Given the description of an element on the screen output the (x, y) to click on. 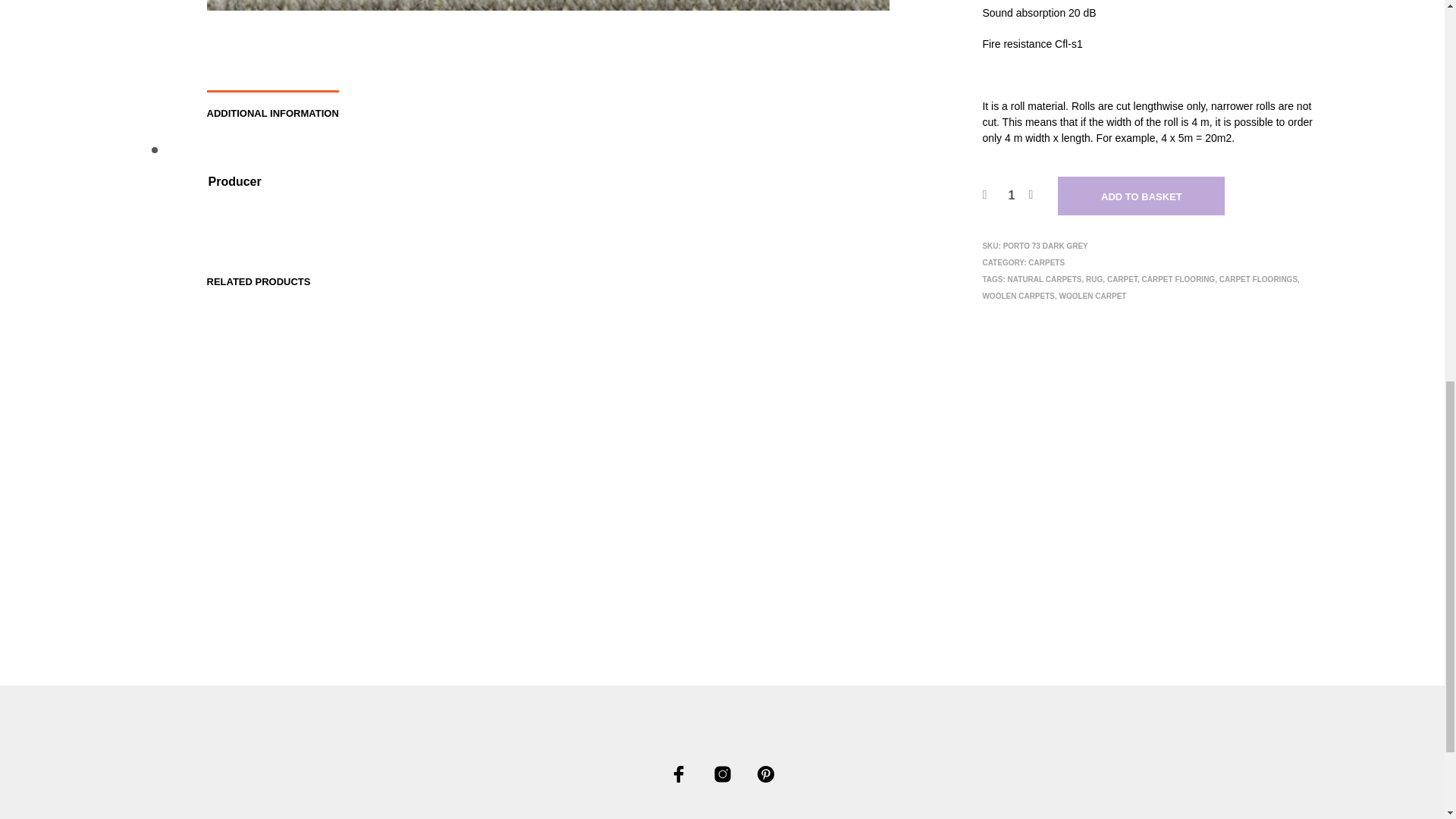
1 (1010, 195)
Viimistluskaubamaja en (678, 773)
